Given the description of an element on the screen output the (x, y) to click on. 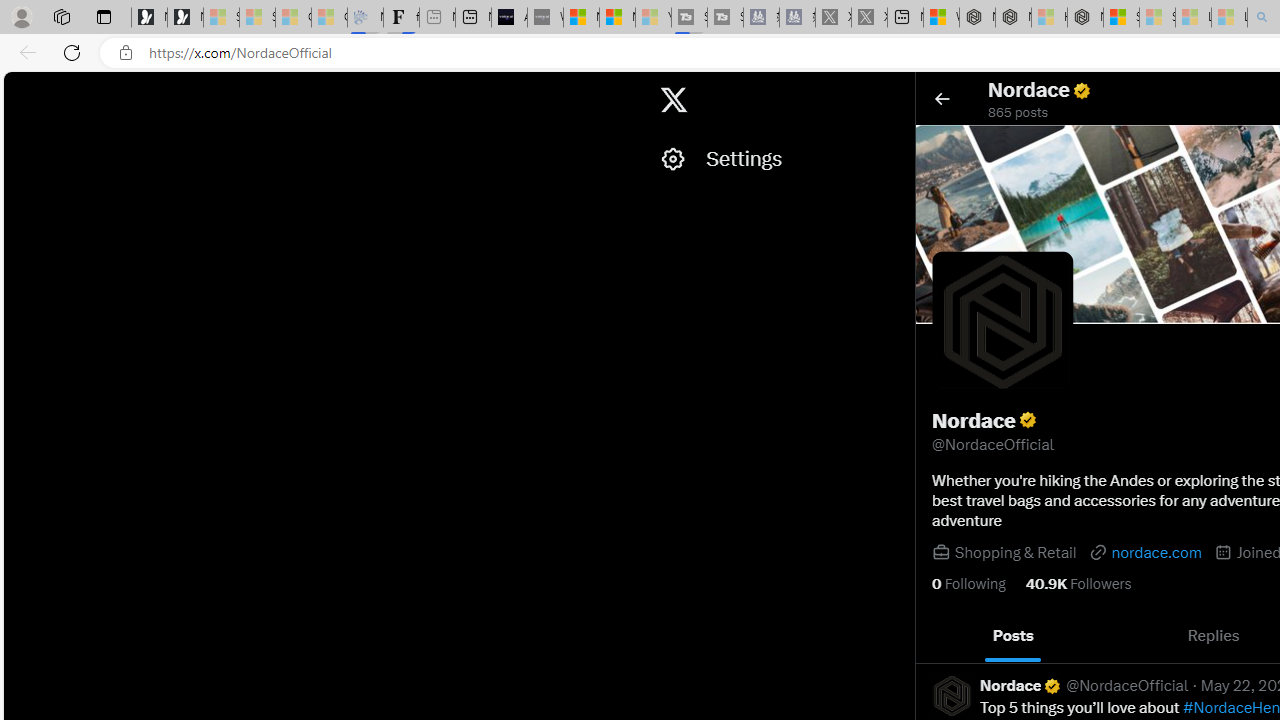
Streaming Coverage | T3 - Sleeping (689, 17)
X (673, 99)
Previous (938, 636)
